Given the description of an element on the screen output the (x, y) to click on. 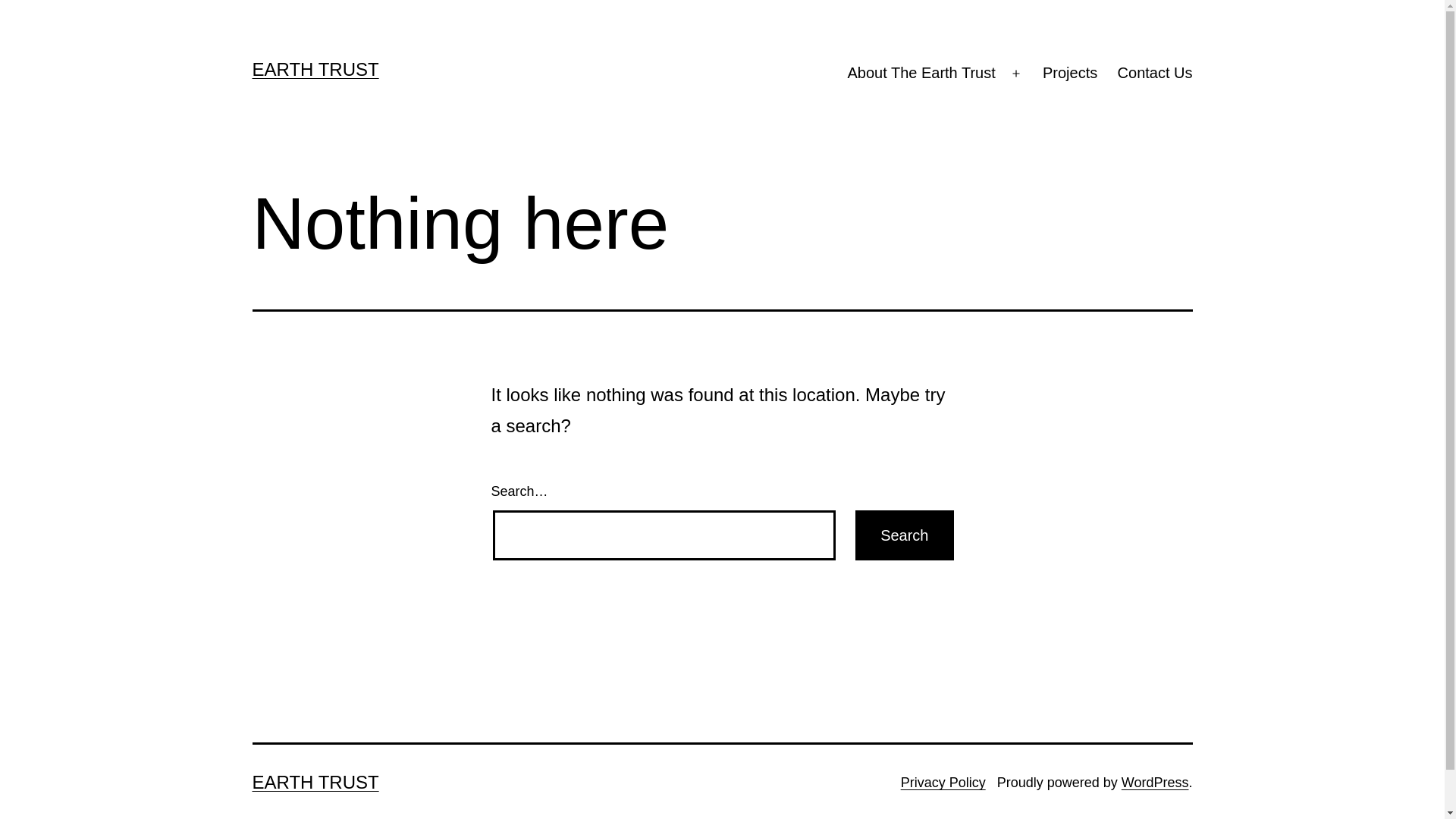
EARTH TRUST Element type: text (314, 781)
Contact Us Element type: text (1154, 73)
WordPress Element type: text (1155, 782)
Privacy Policy Element type: text (942, 782)
About The Earth Trust Element type: text (921, 73)
Open menu Element type: text (1015, 73)
Projects Element type: text (1069, 73)
Search Element type: text (904, 535)
EARTH TRUST Element type: text (314, 69)
